Given the description of an element on the screen output the (x, y) to click on. 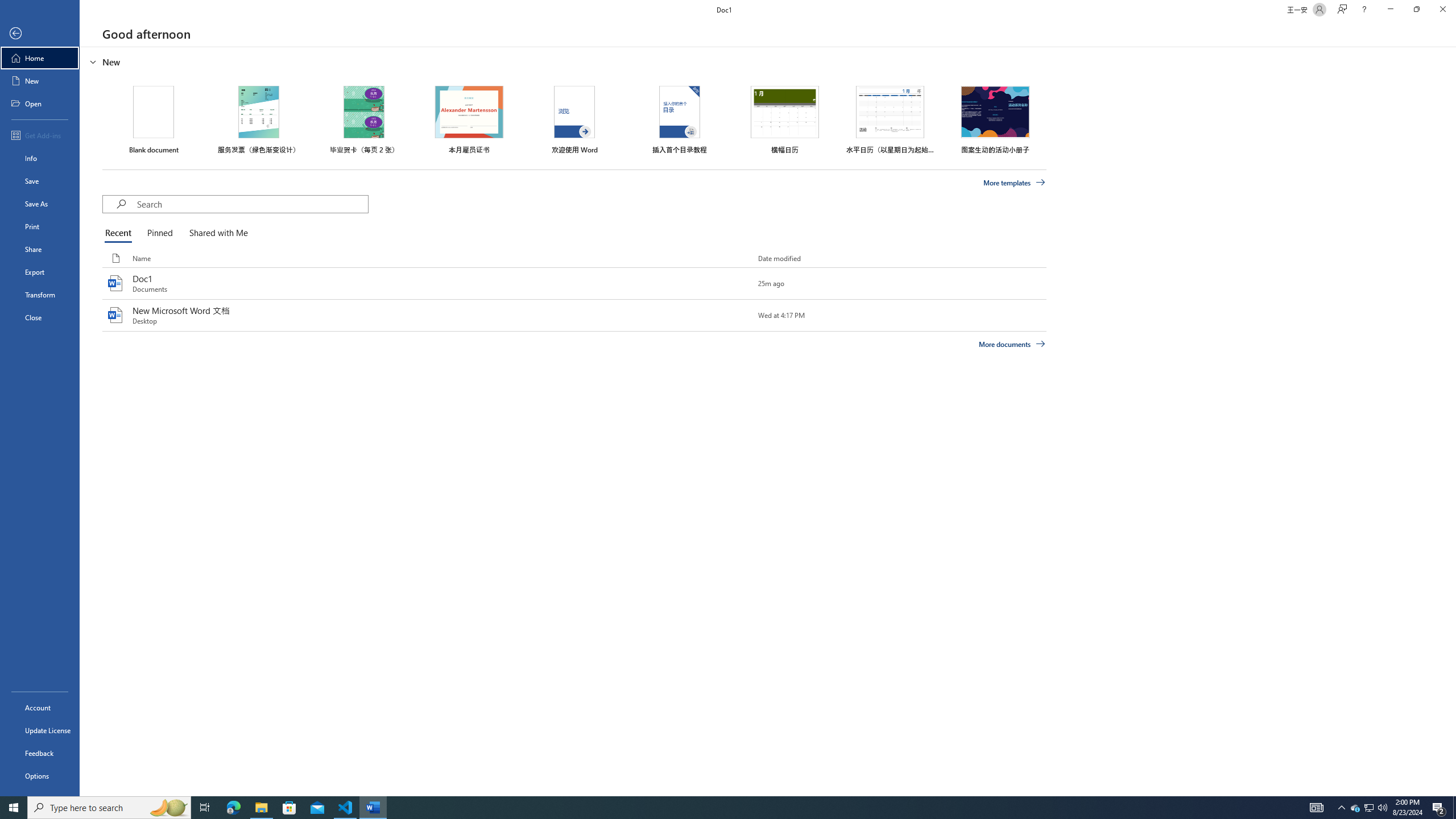
Back (40, 33)
Close (1442, 9)
Pin this item to the list (739, 314)
Info (40, 157)
Restore Down (1416, 9)
Pinned (159, 233)
Search (252, 203)
Get Add-ins (40, 134)
Recent (119, 233)
Transform (40, 294)
Update License (40, 730)
